Given the description of an element on the screen output the (x, y) to click on. 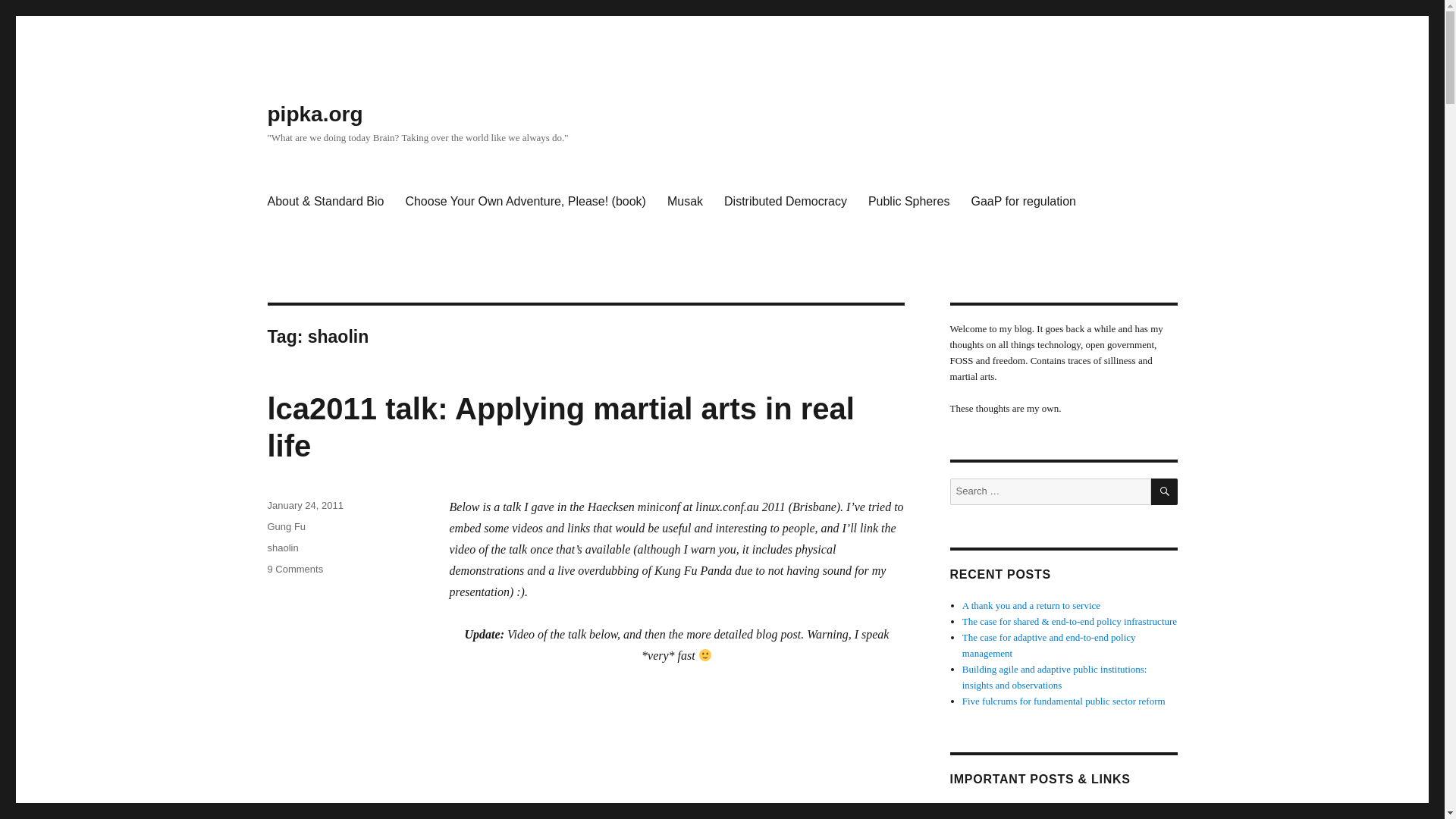
Gung Fu (285, 526)
GaaP for regulation (1022, 201)
shaolin (282, 547)
lca2011 talk: Applying martial arts in real life (559, 427)
pipka.org (314, 114)
The case for adaptive and end-to-end policy management (1048, 645)
January 24, 2011 (304, 505)
Musak (684, 201)
Public Spheres (908, 201)
SEARCH (1164, 491)
Distributed Democracy (785, 201)
A thank you and a return to service (1031, 604)
